Given the description of an element on the screen output the (x, y) to click on. 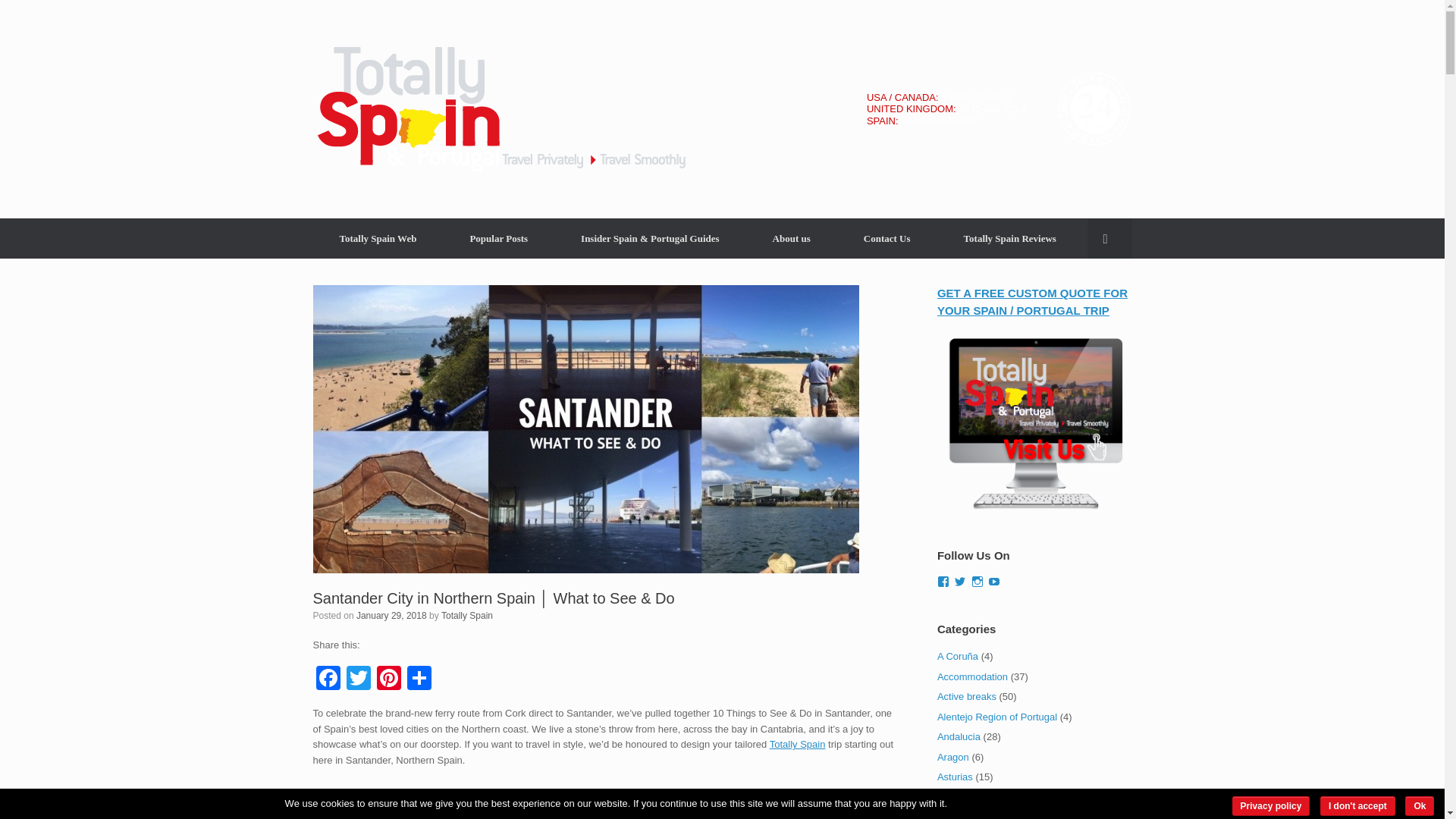
January 29, 2018 (391, 615)
2:22 pm (391, 615)
Contact Totally Spain (887, 238)
View all posts by Totally Spain (467, 615)
Contact Us (887, 238)
Totally Spain (797, 744)
About us (791, 238)
Totally Spain Travel Blog (500, 109)
Popular Posts (498, 238)
Totally Spain Reviews (1010, 238)
Pinterest (387, 679)
Link to www.totallyspain.com (377, 238)
Totally Spain (467, 615)
Totally Spain Web (377, 238)
